Given the description of an element on the screen output the (x, y) to click on. 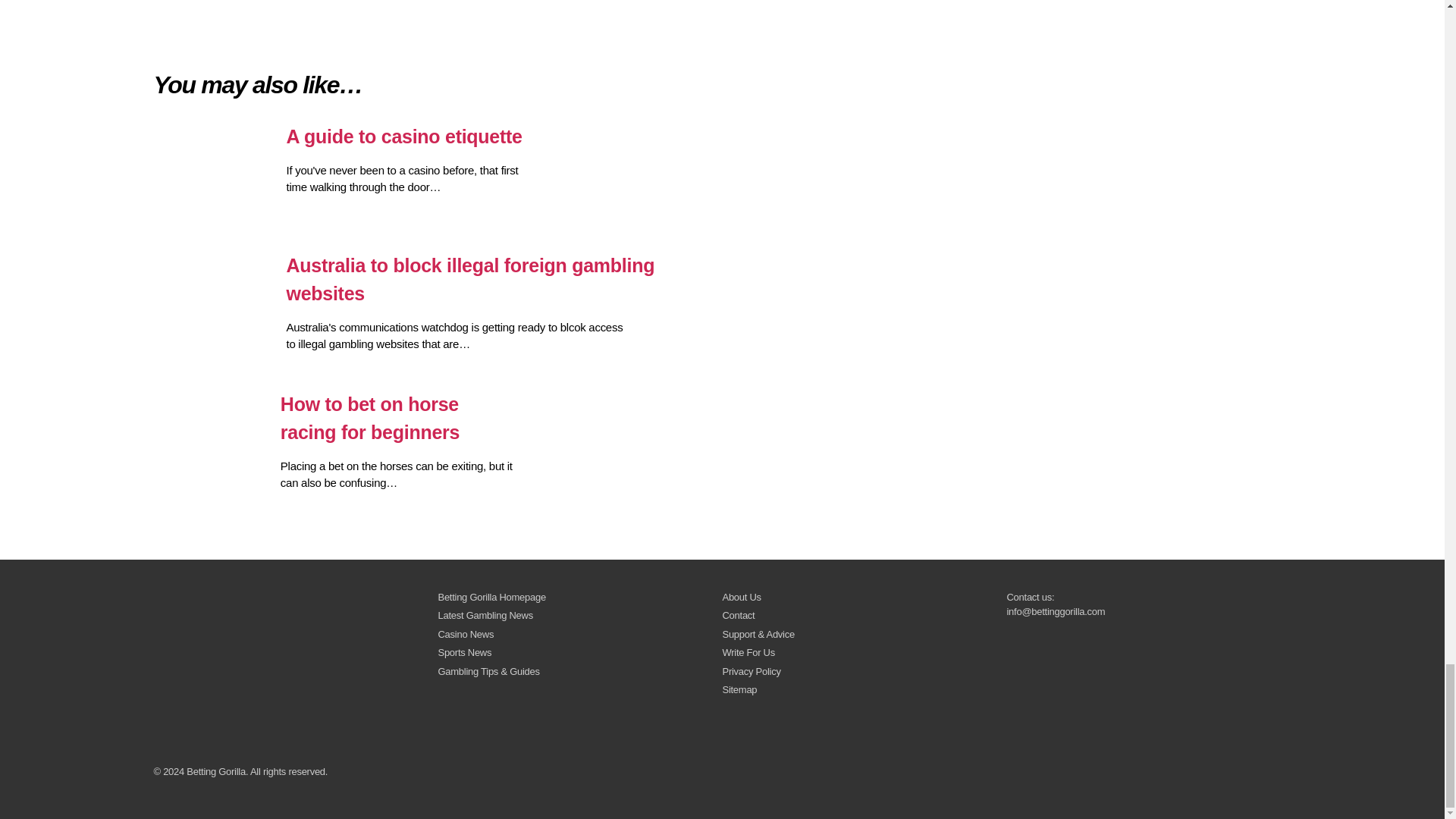
Betting Gorilla Homepage (492, 596)
Latest Gambling News (485, 614)
Sports News (465, 652)
How to bet on horse racing for beginners (333, 418)
Australia to block illegal foreign gambling websites (414, 279)
Casino News (466, 633)
A guide to casino etiquette (347, 136)
About Us (741, 596)
